Given the description of an element on the screen output the (x, y) to click on. 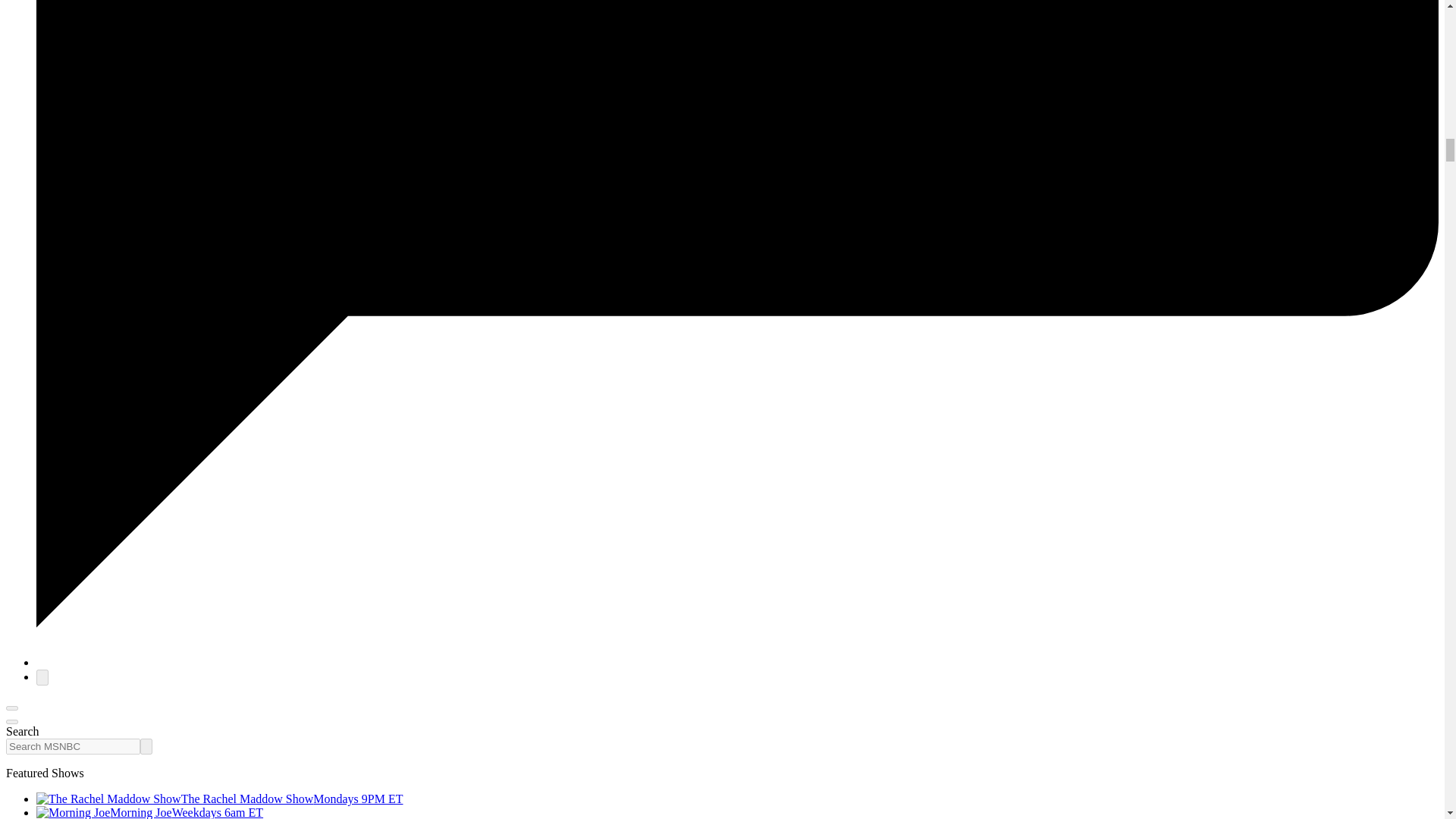
The Rachel Maddow ShowMondays 9PM ET (219, 798)
Morning JoeWeekdays 6am ET (149, 812)
Search (145, 746)
